Given the description of an element on the screen output the (x, y) to click on. 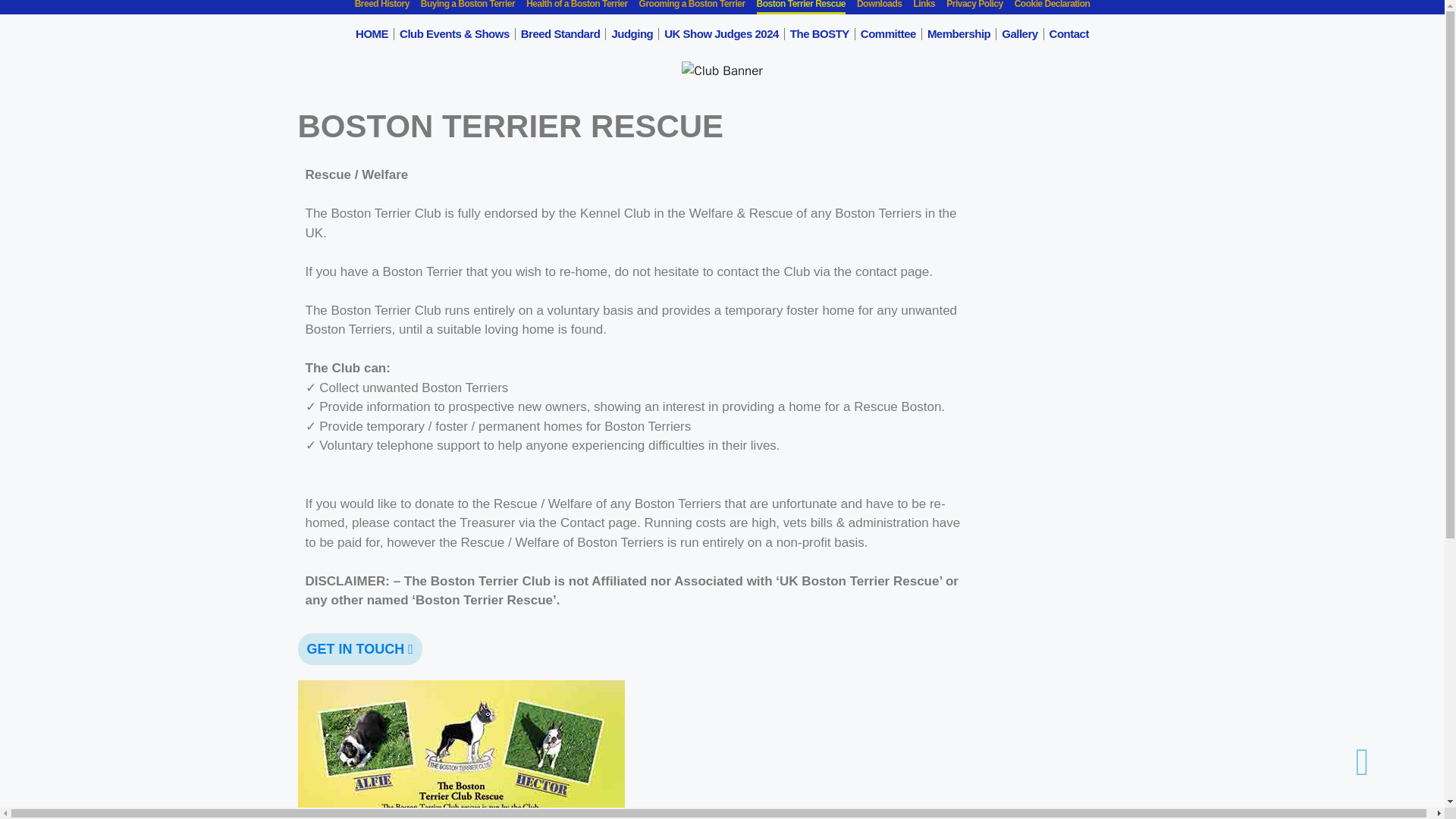
Cookie Declaration (1052, 7)
Judging (631, 33)
Grooming a Boston Terrier (692, 7)
Gallery (1018, 33)
Downloads (879, 7)
Links (923, 7)
Buying a Boston Terrier (467, 7)
Privacy Policy (974, 7)
Contact (1068, 33)
Club Banner (721, 71)
